Given the description of an element on the screen output the (x, y) to click on. 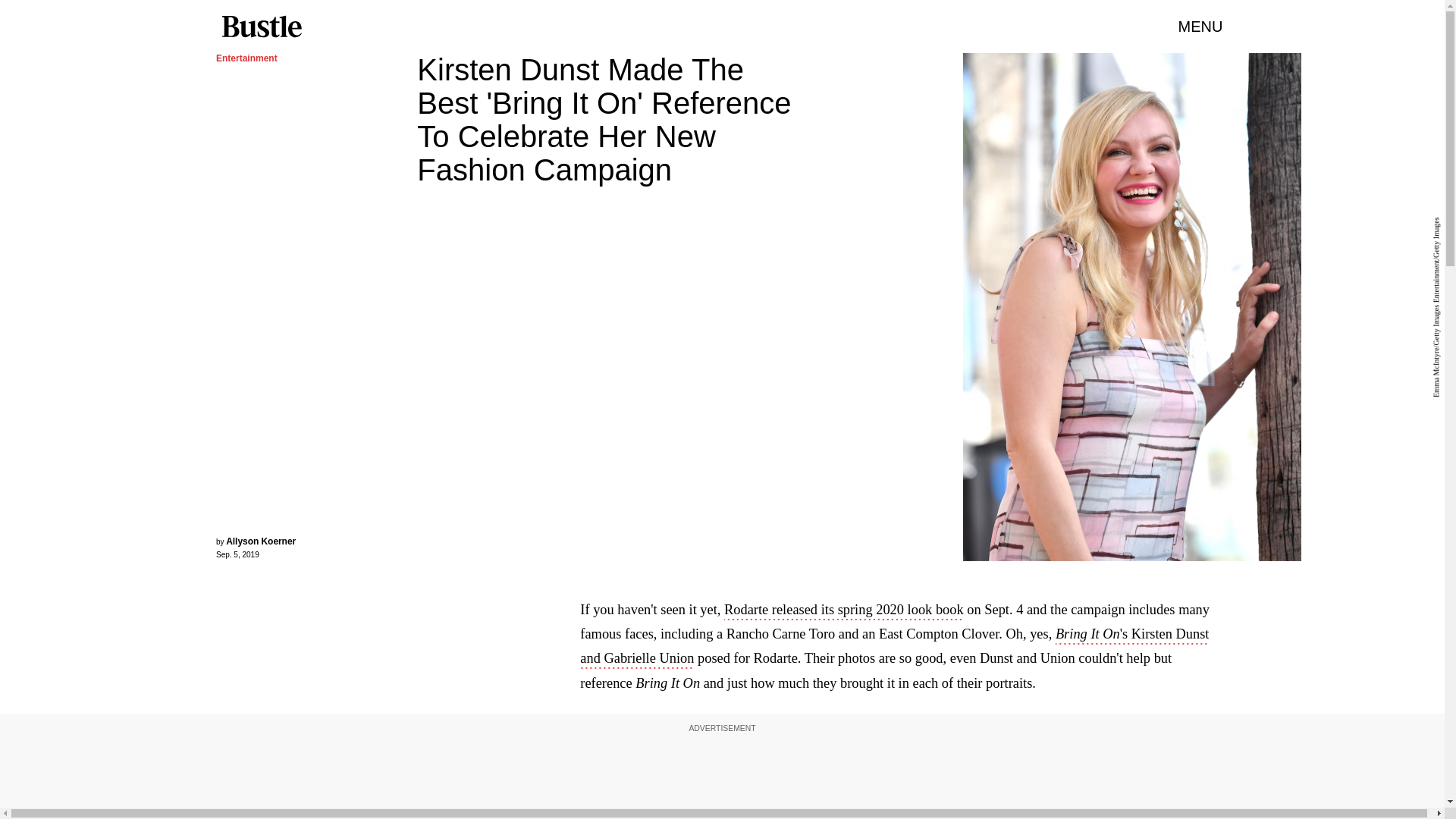
Allyson Koerner (260, 541)
Bustle (261, 26)
Rodarte released its spring 2020 look book (843, 610)
Bring It On's Kirsten Dunst and Gabrielle Union (893, 647)
